Given the description of an element on the screen output the (x, y) to click on. 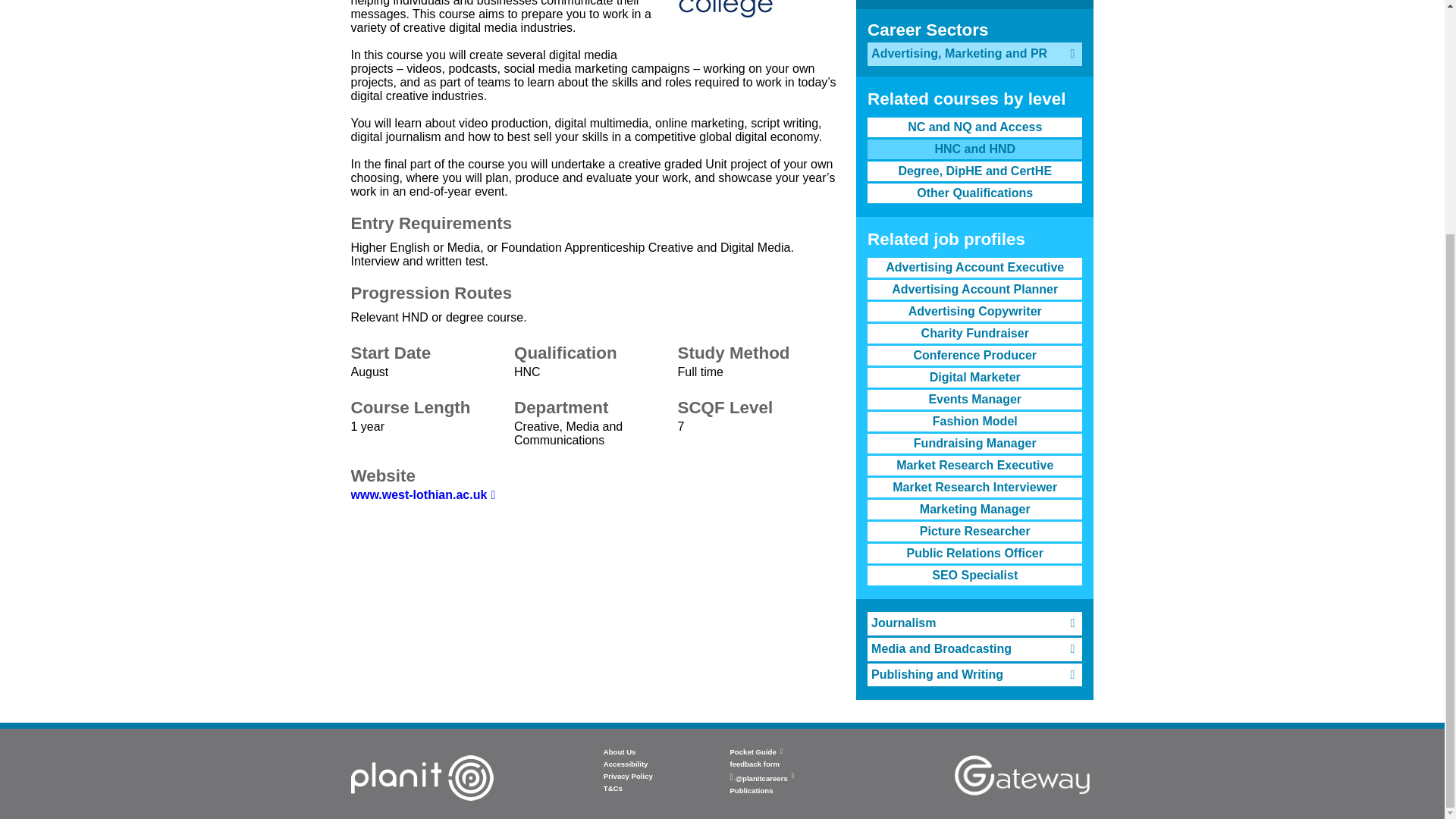
HNC and HND (974, 148)
www.west-lothian.ac.uk (422, 494)
NC and NQ and Access (974, 127)
